Given the description of an element on the screen output the (x, y) to click on. 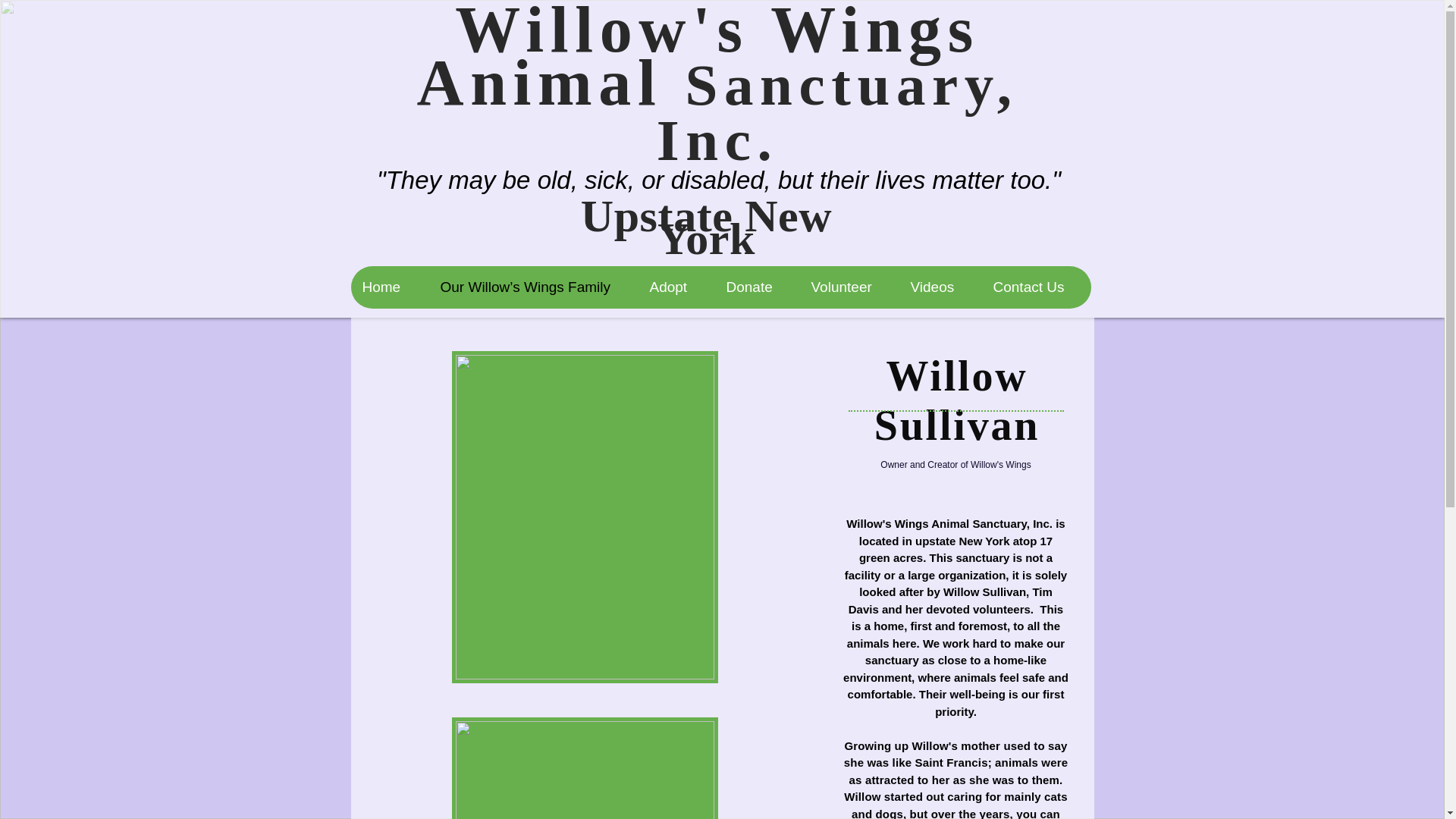
Home (389, 287)
Contact Us (1035, 287)
Donate (756, 287)
Videos (938, 287)
Volunteer (848, 287)
Adopt (675, 287)
